Given the description of an element on the screen output the (x, y) to click on. 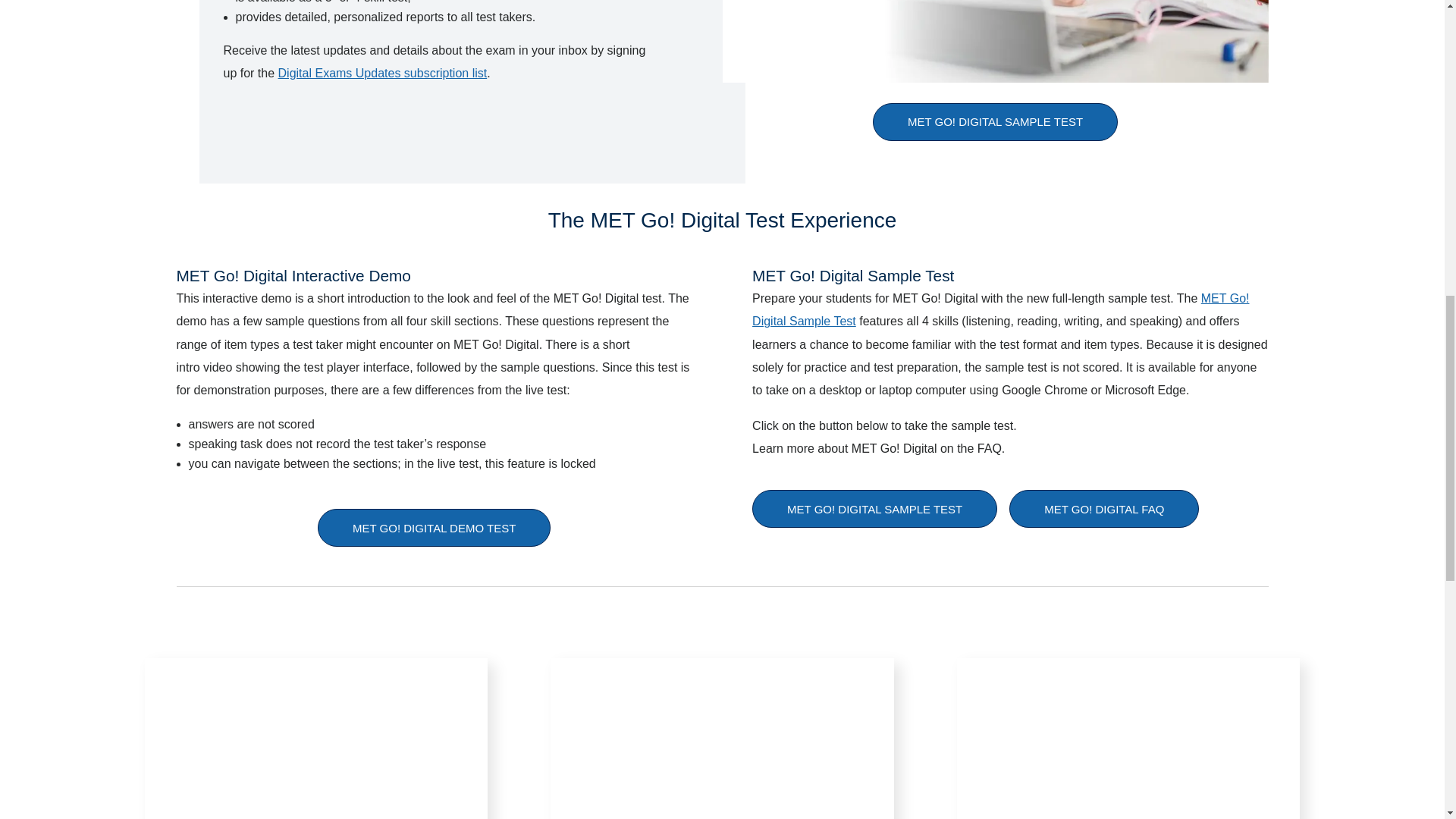
21.3.IMG.H2.Go-SampleTest (995, 40)
